Given the description of an element on the screen output the (x, y) to click on. 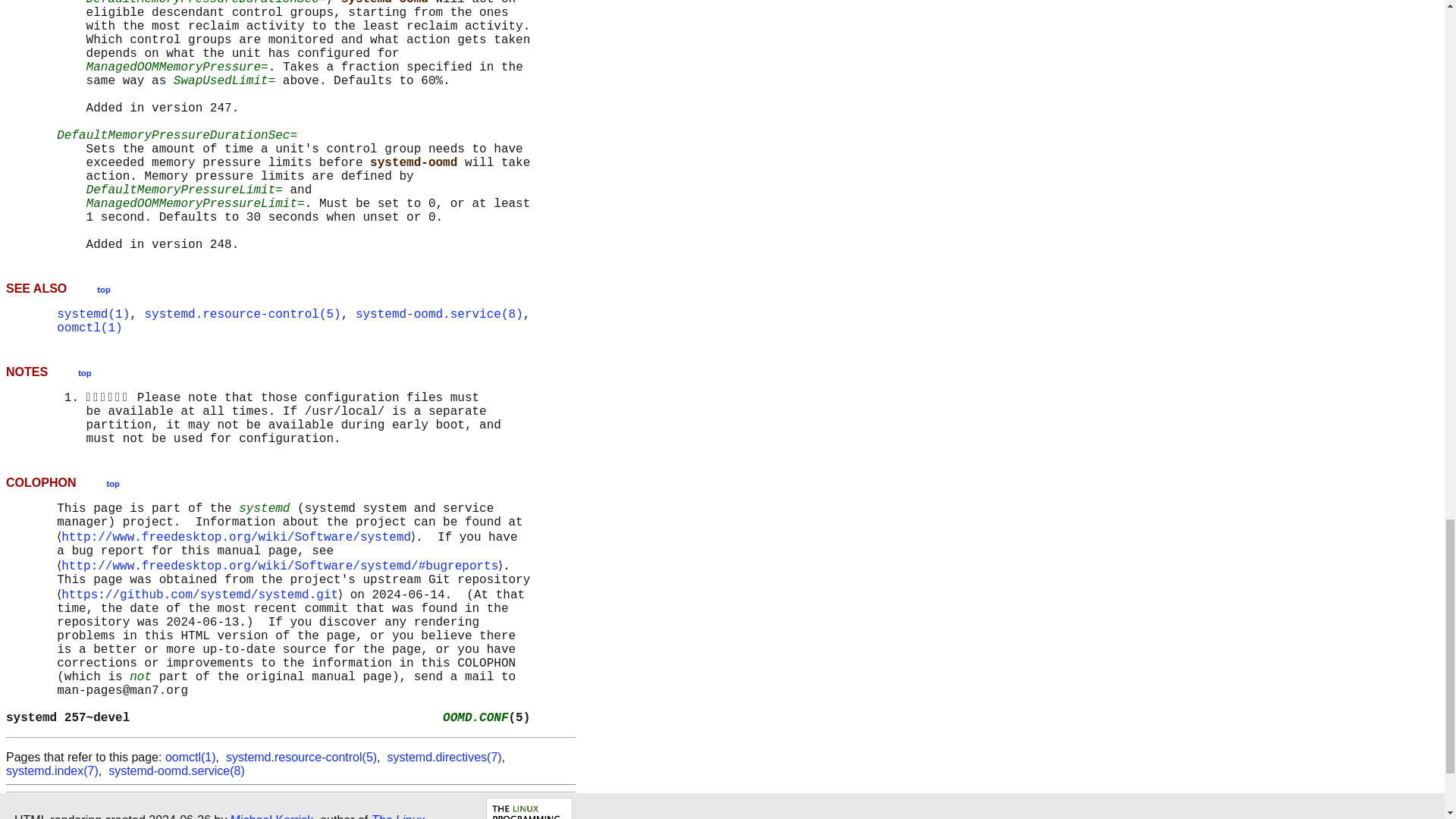
top (103, 287)
top (112, 481)
top (84, 371)
